Given the description of an element on the screen output the (x, y) to click on. 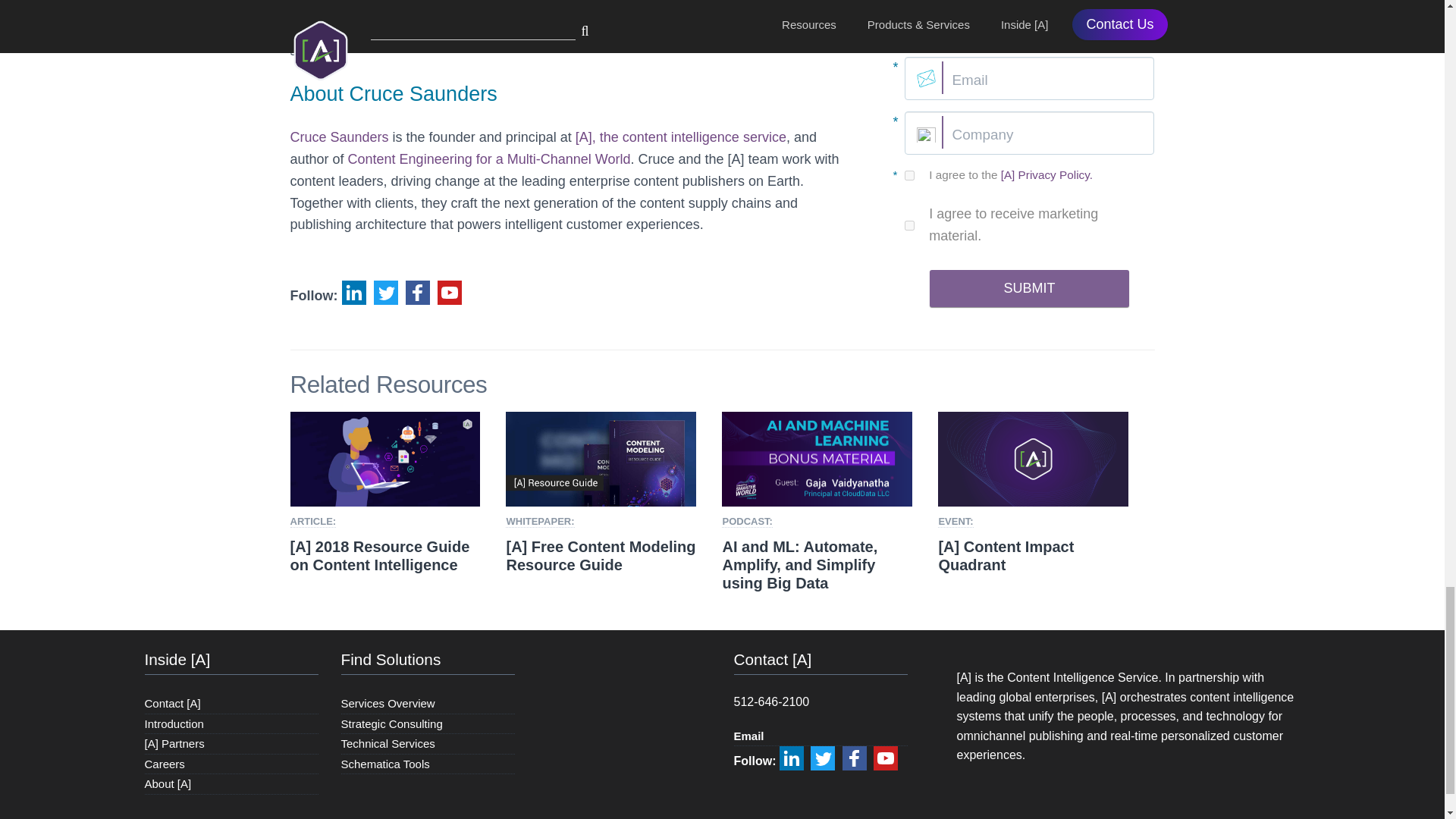
LinkedIn (352, 292)
Facebook (417, 292)
Facebook (854, 758)
Twitter (385, 292)
Cruce Saunders (338, 136)
YouTube (449, 292)
LinkedIn (352, 292)
YouTube (885, 758)
Content Engineering for a Multi-Channel World (488, 159)
LinkedIn (790, 758)
Twitter (822, 758)
